Given the description of an element on the screen output the (x, y) to click on. 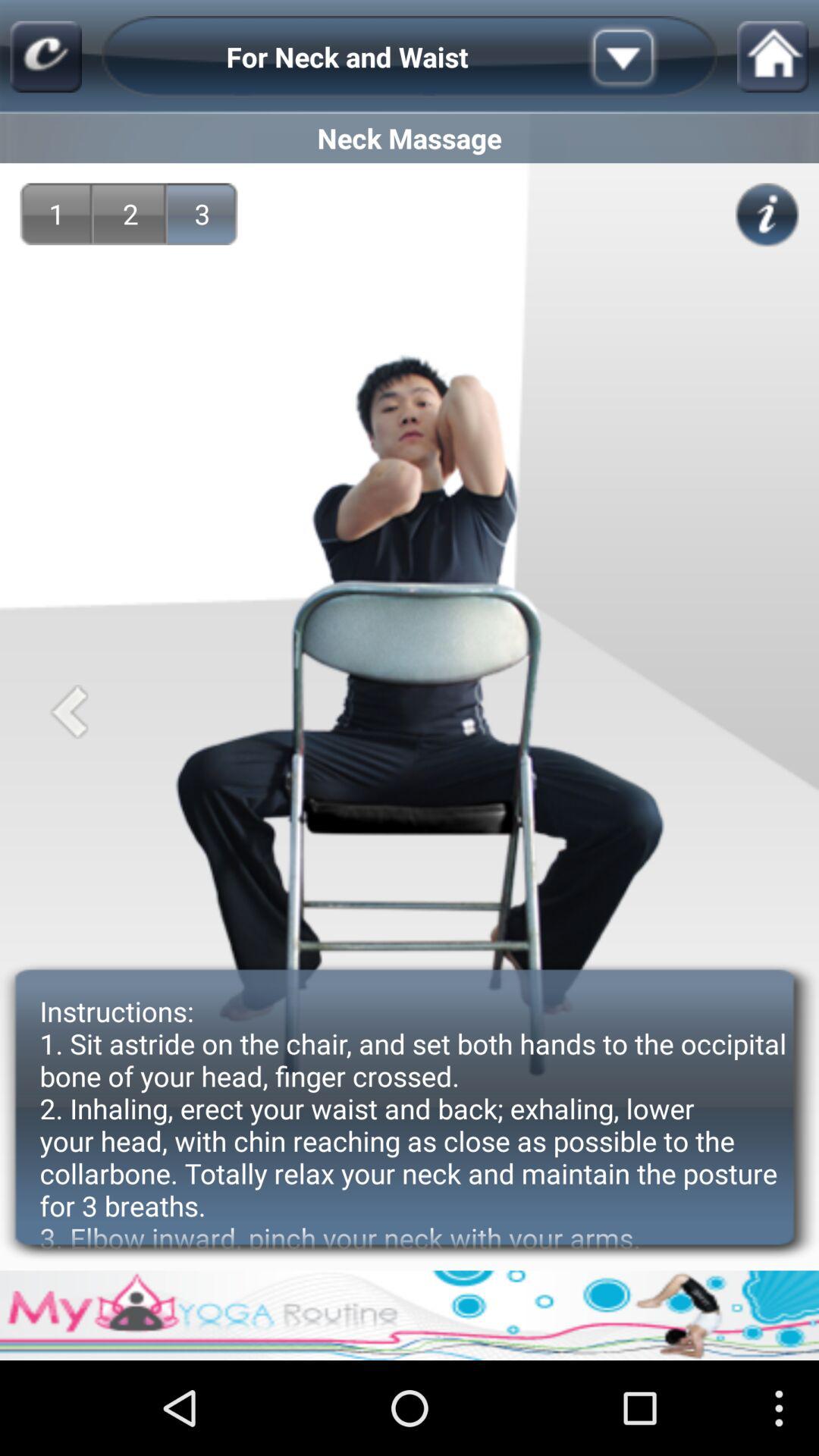
go home page (772, 56)
